Given the description of an element on the screen output the (x, y) to click on. 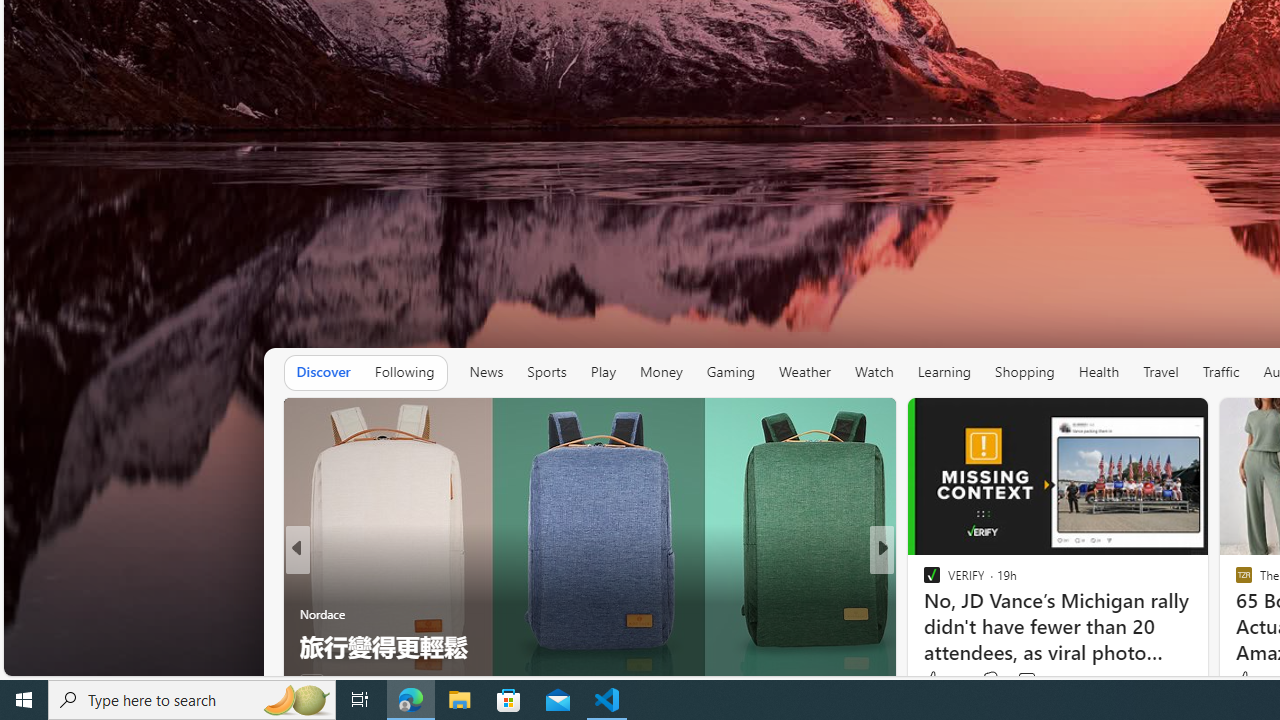
14 Like (317, 681)
MetroOpinion (952, 614)
Weather (804, 371)
USA TODAY (923, 581)
Learning (944, 371)
Watch (874, 372)
Traffic (1220, 372)
View comments 180 Comment (1019, 681)
667 Like (936, 681)
Byrdie (923, 614)
Cracked (923, 581)
View comments 1 Comment (1007, 681)
